Given the description of an element on the screen output the (x, y) to click on. 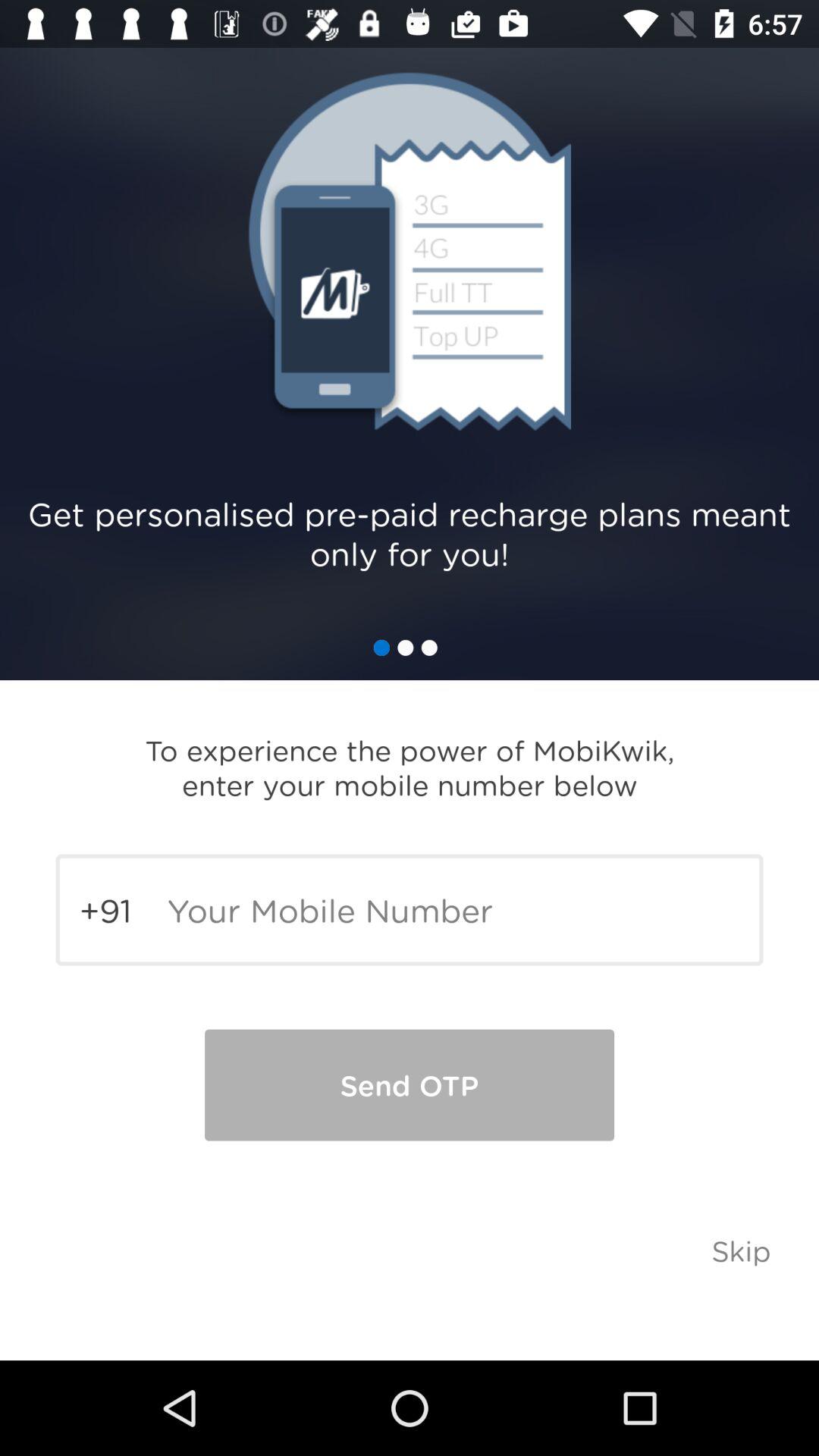
turn off the item at the bottom right corner (741, 1250)
